Given the description of an element on the screen output the (x, y) to click on. 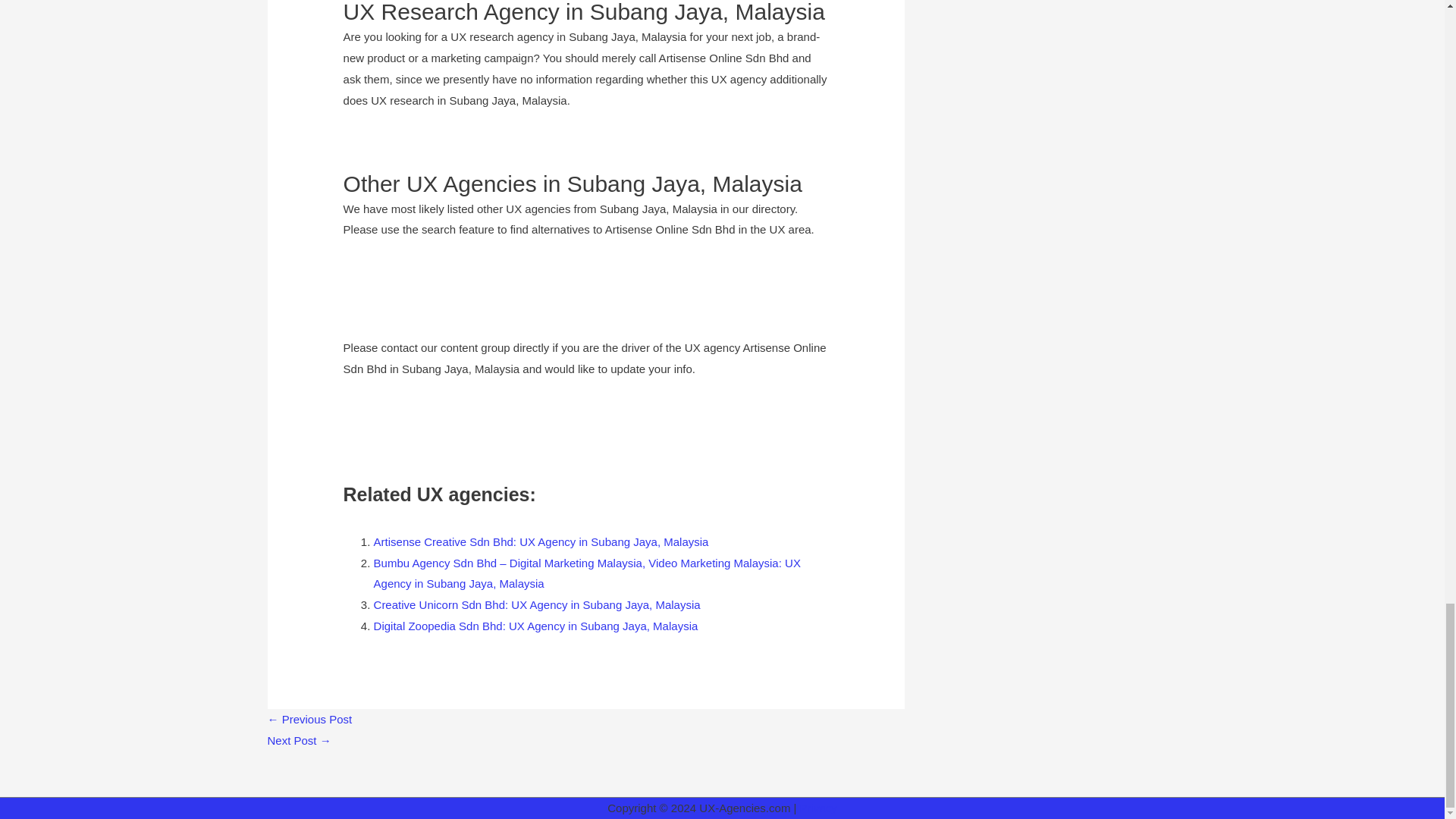
Creative Unicorn Sdn Bhd: UX Agency in Subang Jaya, Malaysia (537, 604)
Digital Zoopedia Sdn Bhd: UX Agency in Subang Jaya, Malaysia (536, 625)
Digital Zoopedia Sdn Bhd: UX Agency in Subang Jaya, Malaysia (536, 625)
Creative Unicorn Sdn Bhd: UX Agency in Subang Jaya, Malaysia (537, 604)
